Given the description of an element on the screen output the (x, y) to click on. 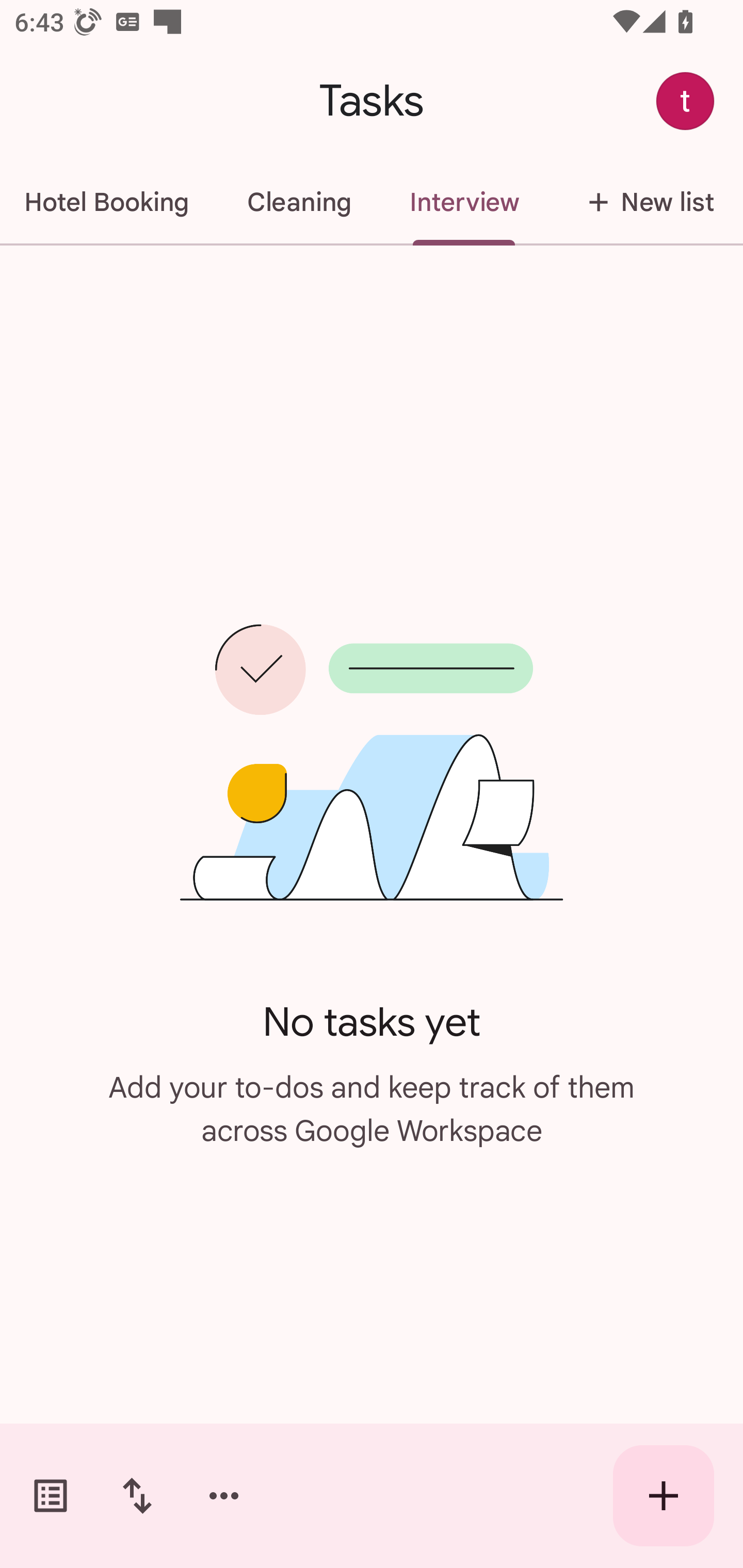
Hotel Booking (108, 202)
Cleaning (298, 202)
New list (645, 202)
Switch task lists (50, 1495)
Create new task (663, 1495)
Change sort order (136, 1495)
More options (223, 1495)
